Given the description of an element on the screen output the (x, y) to click on. 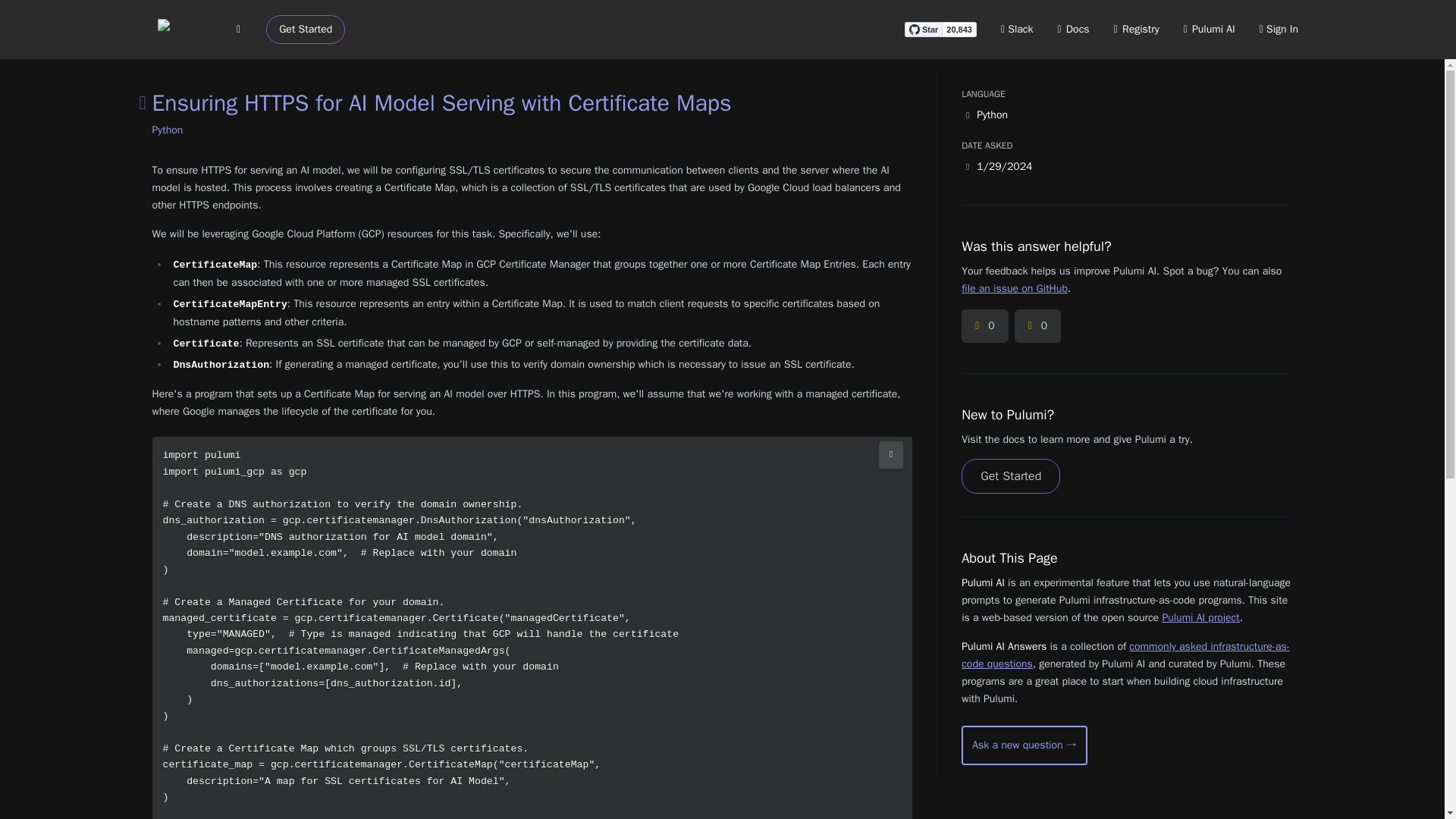
0 (984, 326)
Start a new conversation with Pulumi AI (1023, 744)
20,843 (959, 29)
 Star (923, 29)
Slack (1017, 29)
Upvote this answer (984, 326)
Registry (1135, 29)
Get Started (305, 29)
Docs (1073, 29)
Pulumi AI (1208, 29)
